Given the description of an element on the screen output the (x, y) to click on. 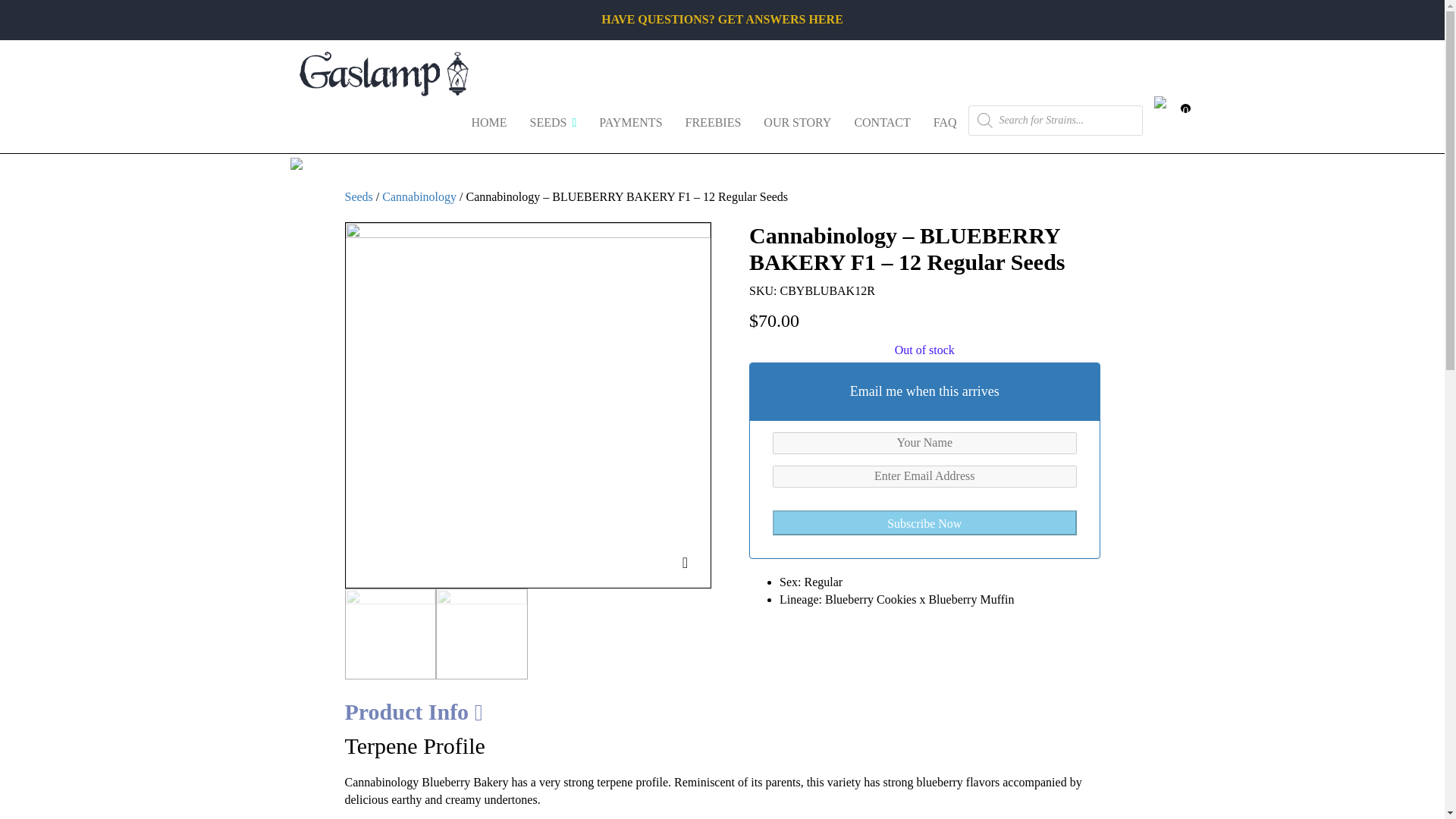
Seeds (553, 118)
OUR STORY (797, 118)
Home (489, 118)
Freebies (713, 118)
FAQ (944, 118)
CONTACT (882, 118)
Payments (630, 118)
0 (1158, 111)
PAYMENTS (630, 118)
Contact (882, 118)
Subscribe Now (924, 522)
HOME (489, 118)
HAVE QUESTIONS? GET ANSWERS HERE (722, 19)
FAQ (944, 118)
FREEBIES (713, 118)
